Given the description of an element on the screen output the (x, y) to click on. 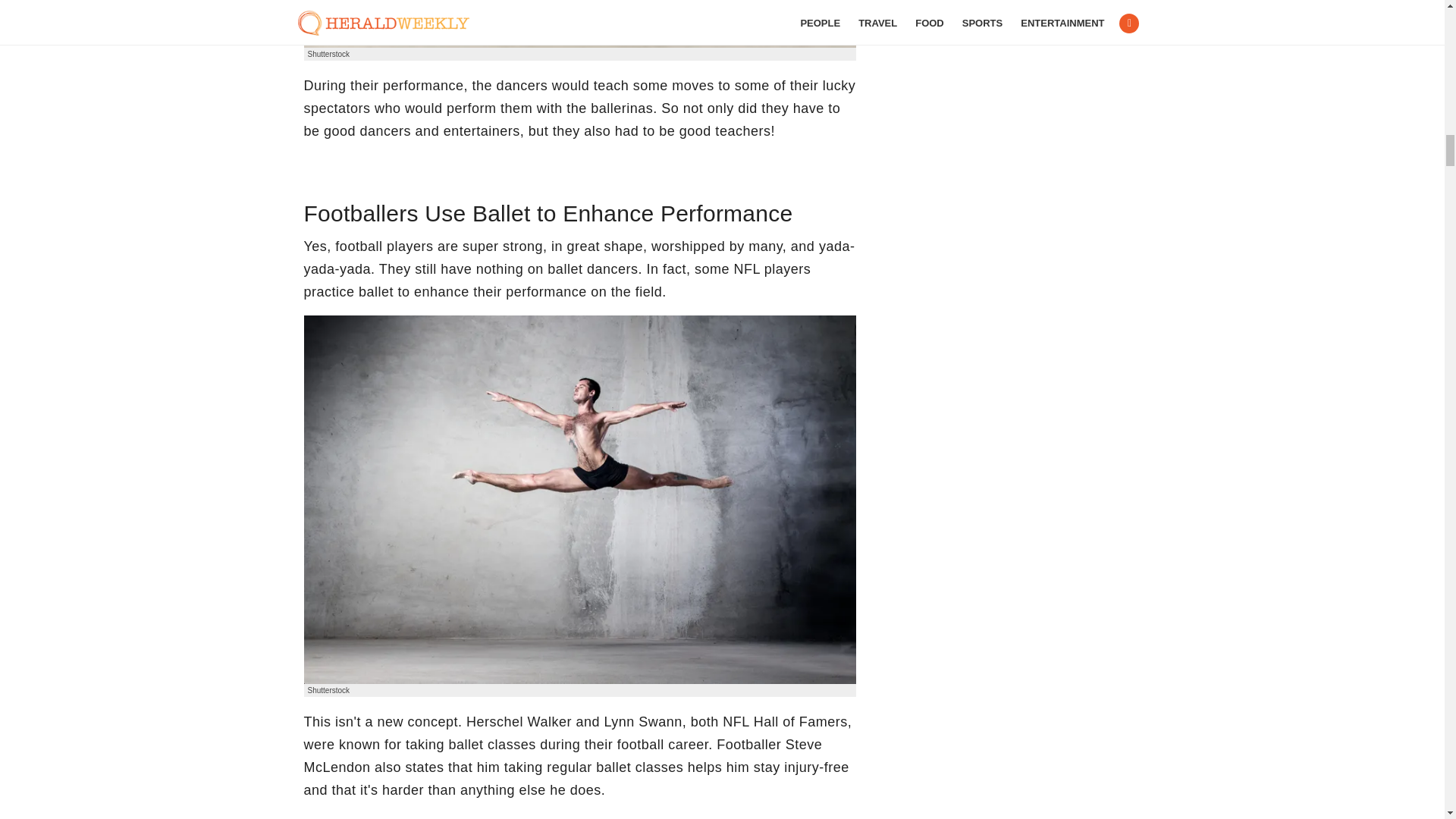
How About Some Interactive Dancing? (579, 23)
